Given the description of an element on the screen output the (x, y) to click on. 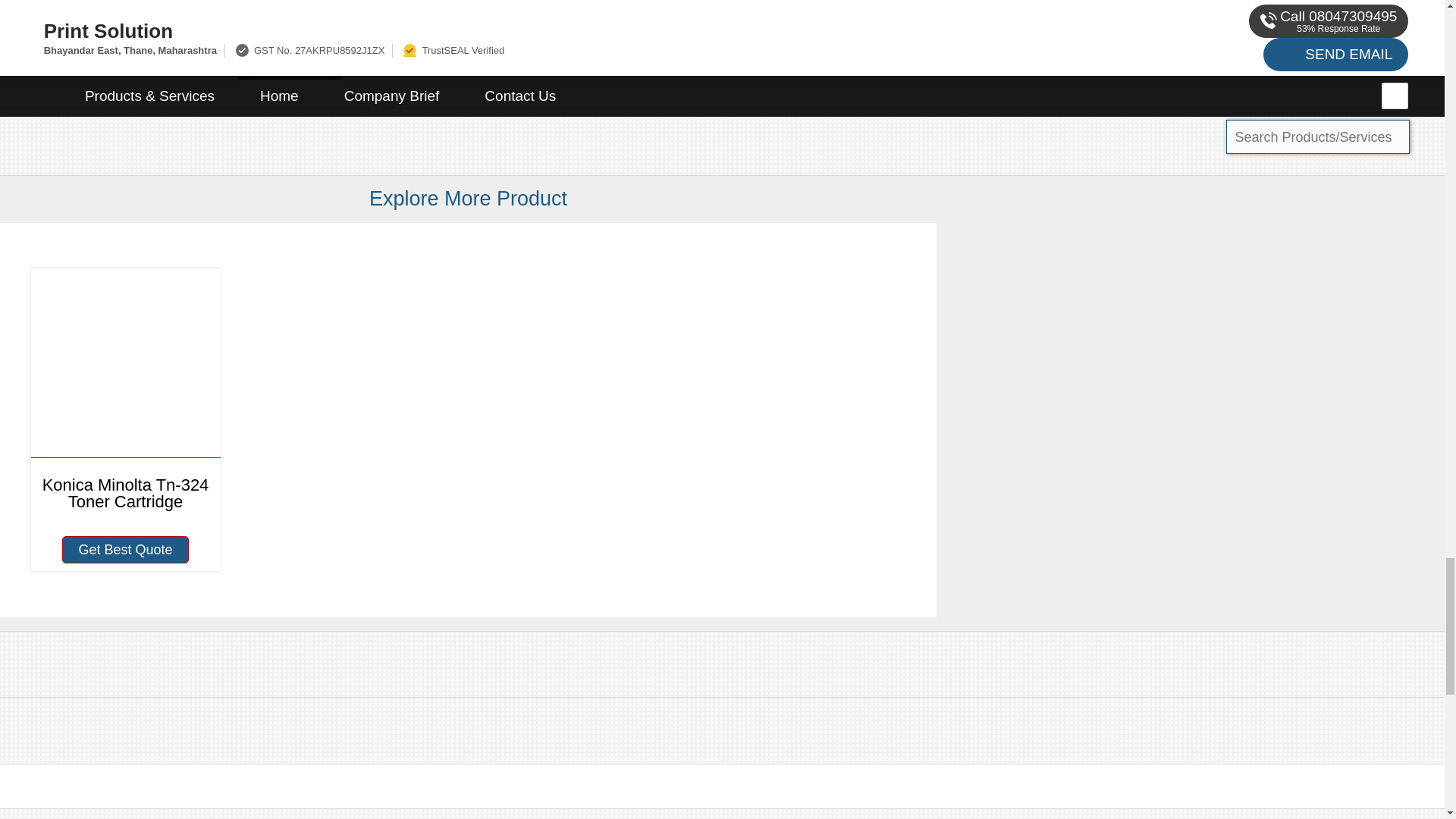
Konica Minolta Tn-324 Toner Cartridge (124, 395)
